Given the description of an element on the screen output the (x, y) to click on. 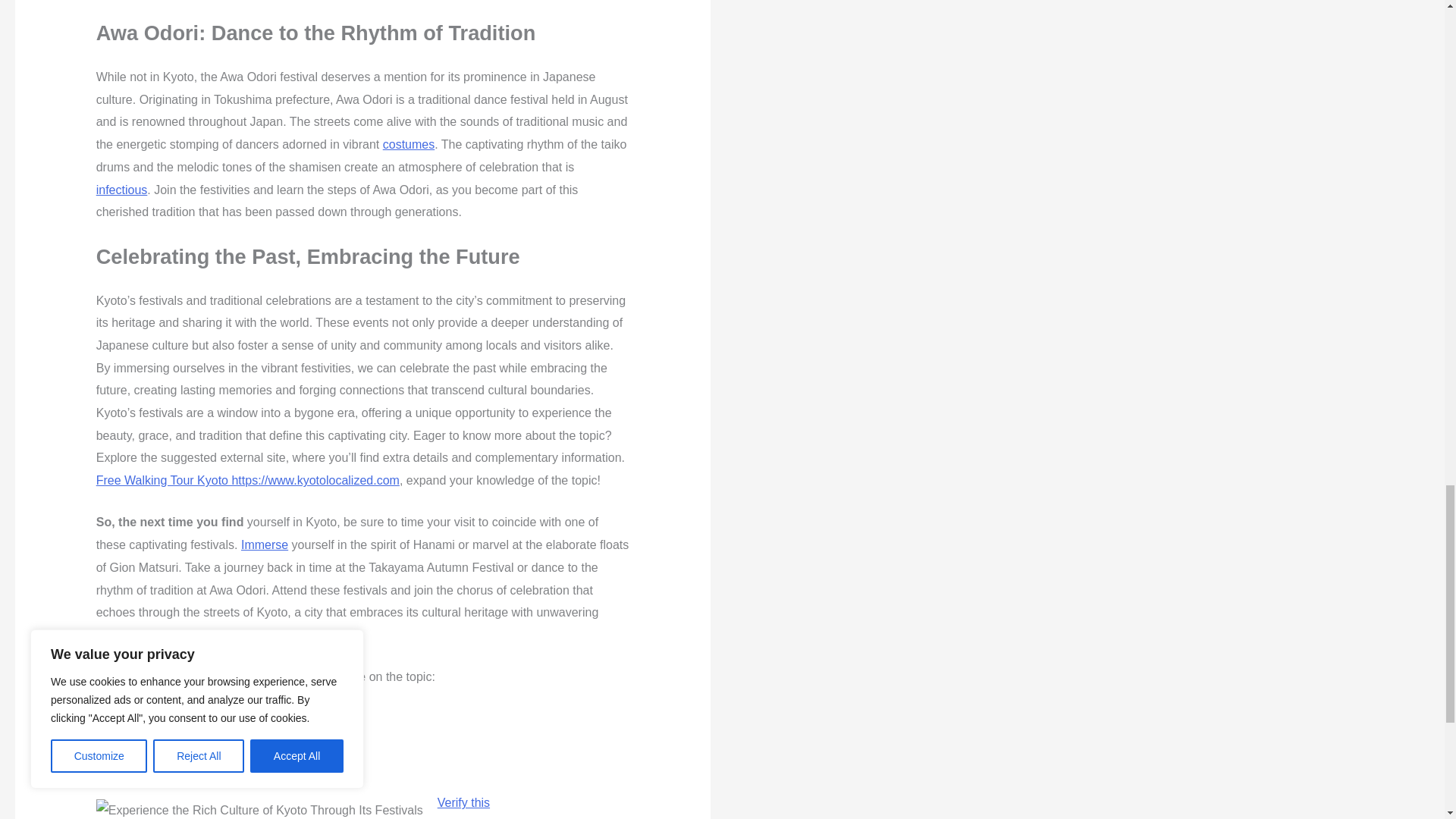
Verify this (463, 802)
Explore this educational material (183, 760)
Immerse (264, 544)
infectious (122, 189)
Read more about this topic here (182, 718)
costumes (407, 144)
